Given the description of an element on the screen output the (x, y) to click on. 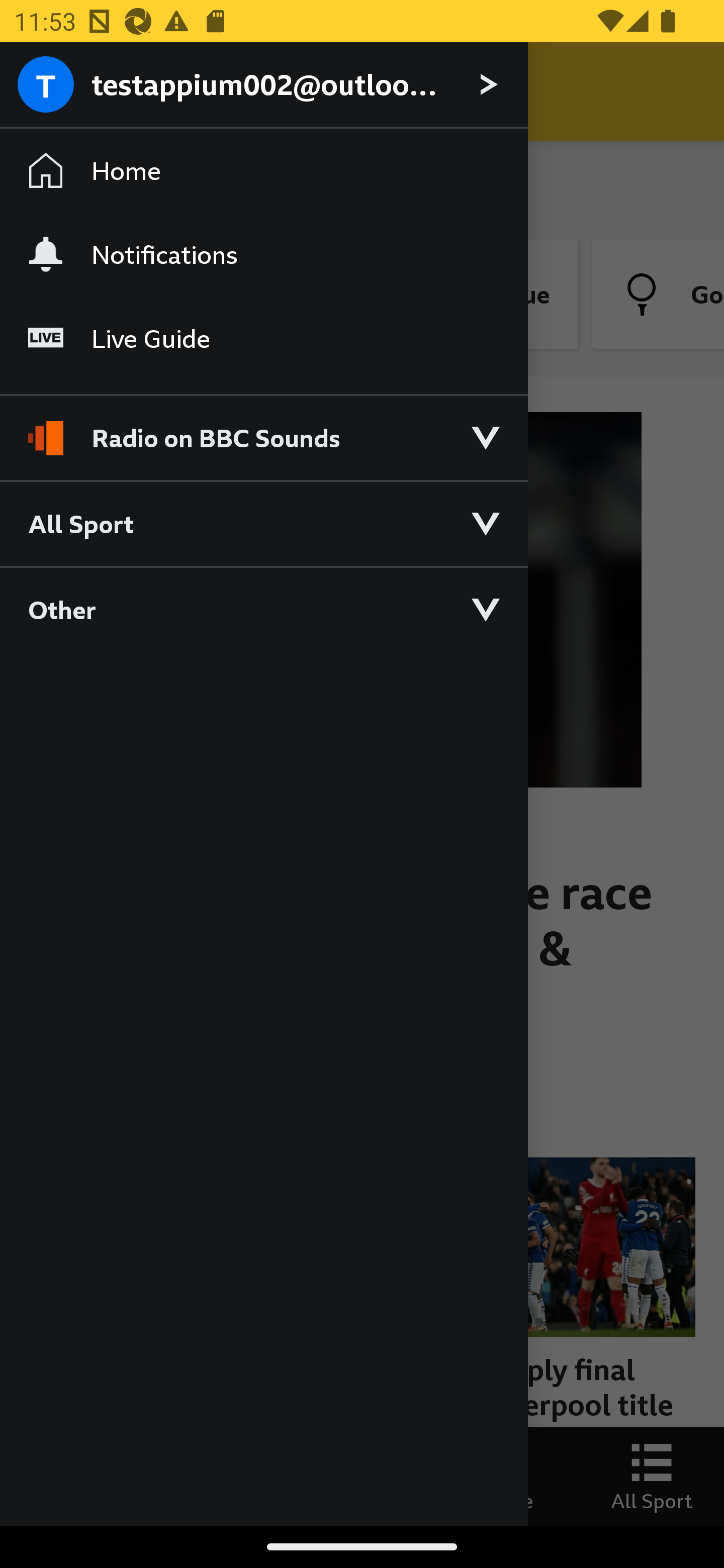
testappium002@outlook.com (263, 85)
Home (263, 170)
Notifications (263, 253)
Live Guide (263, 338)
Radio on BBC Sounds (263, 429)
All Sport (263, 522)
Other (263, 609)
